Given the description of an element on the screen output the (x, y) to click on. 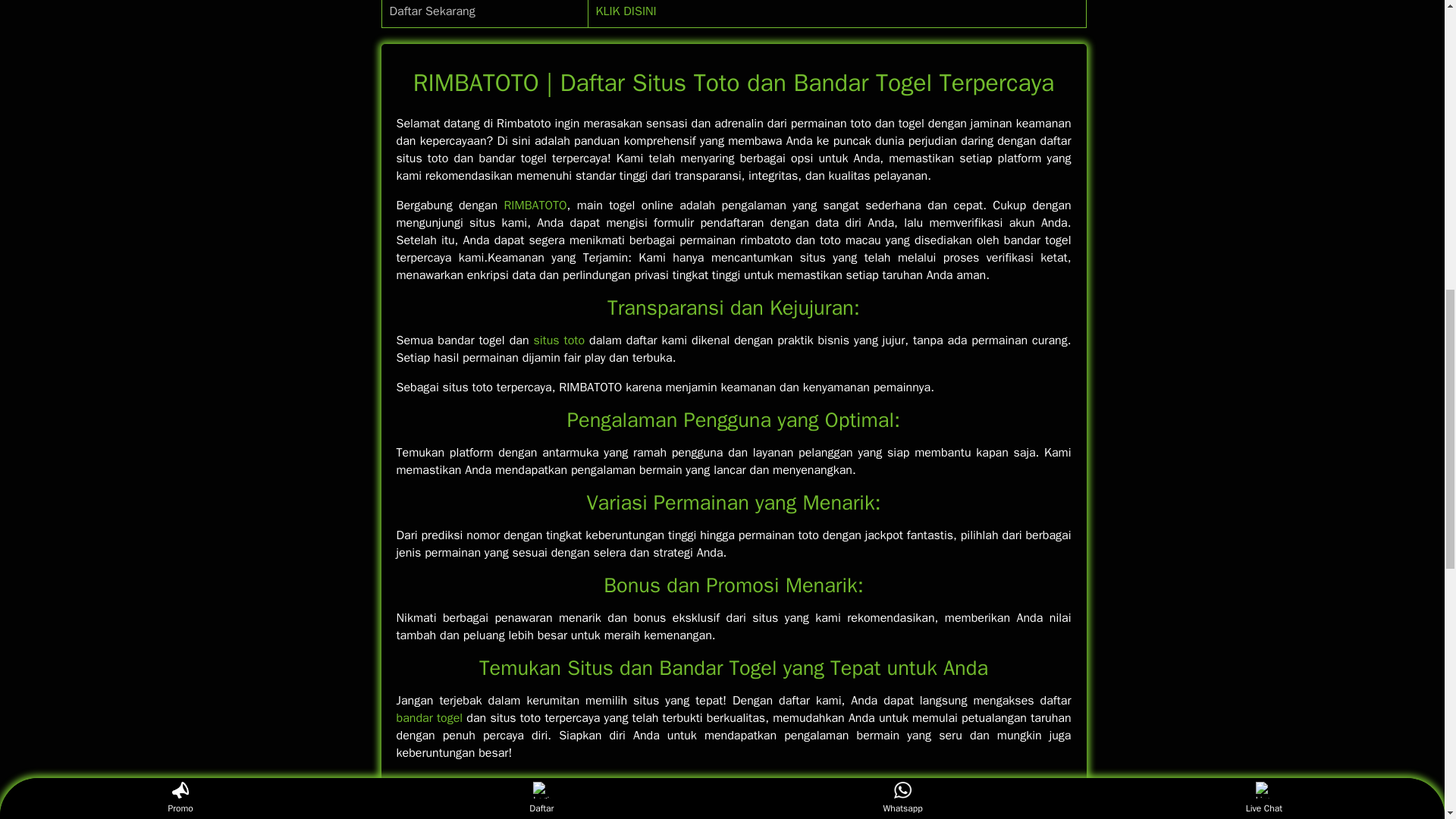
bandar togel (429, 717)
RIMBATOTO (534, 205)
situs toto (558, 340)
bandar togel (429, 717)
KLIK DISINI (625, 11)
situs toto (558, 340)
RIMBATOTO (534, 205)
